Given the description of an element on the screen output the (x, y) to click on. 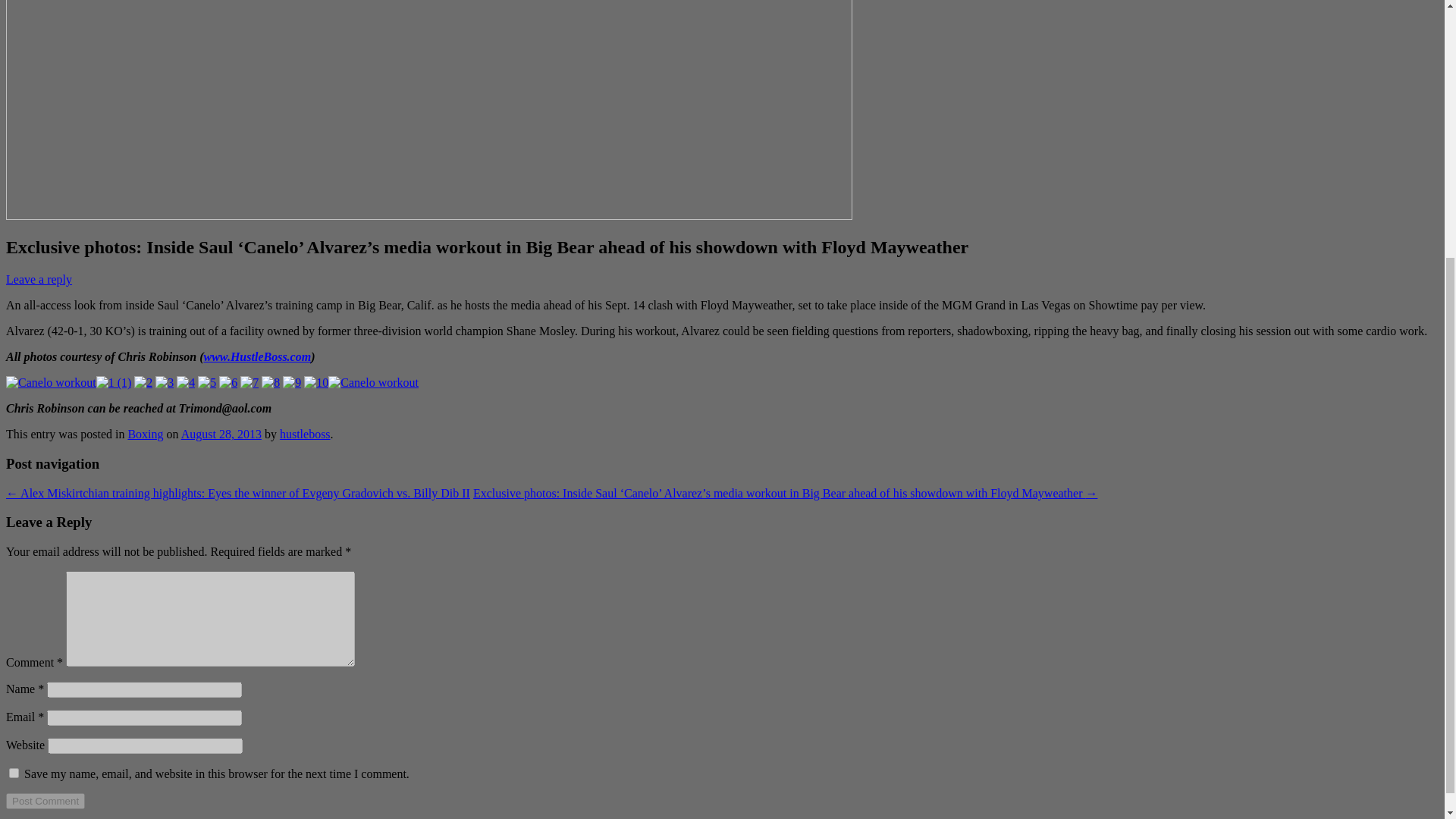
hustleboss (304, 433)
View all posts by hustleboss (304, 433)
Post Comment (44, 801)
yes (13, 773)
Leave a reply (38, 278)
Post Comment (44, 801)
August 28, 2013 (221, 433)
www.HustleBoss.com (257, 356)
12:36 (221, 433)
Boxing (145, 433)
